Given the description of an element on the screen output the (x, y) to click on. 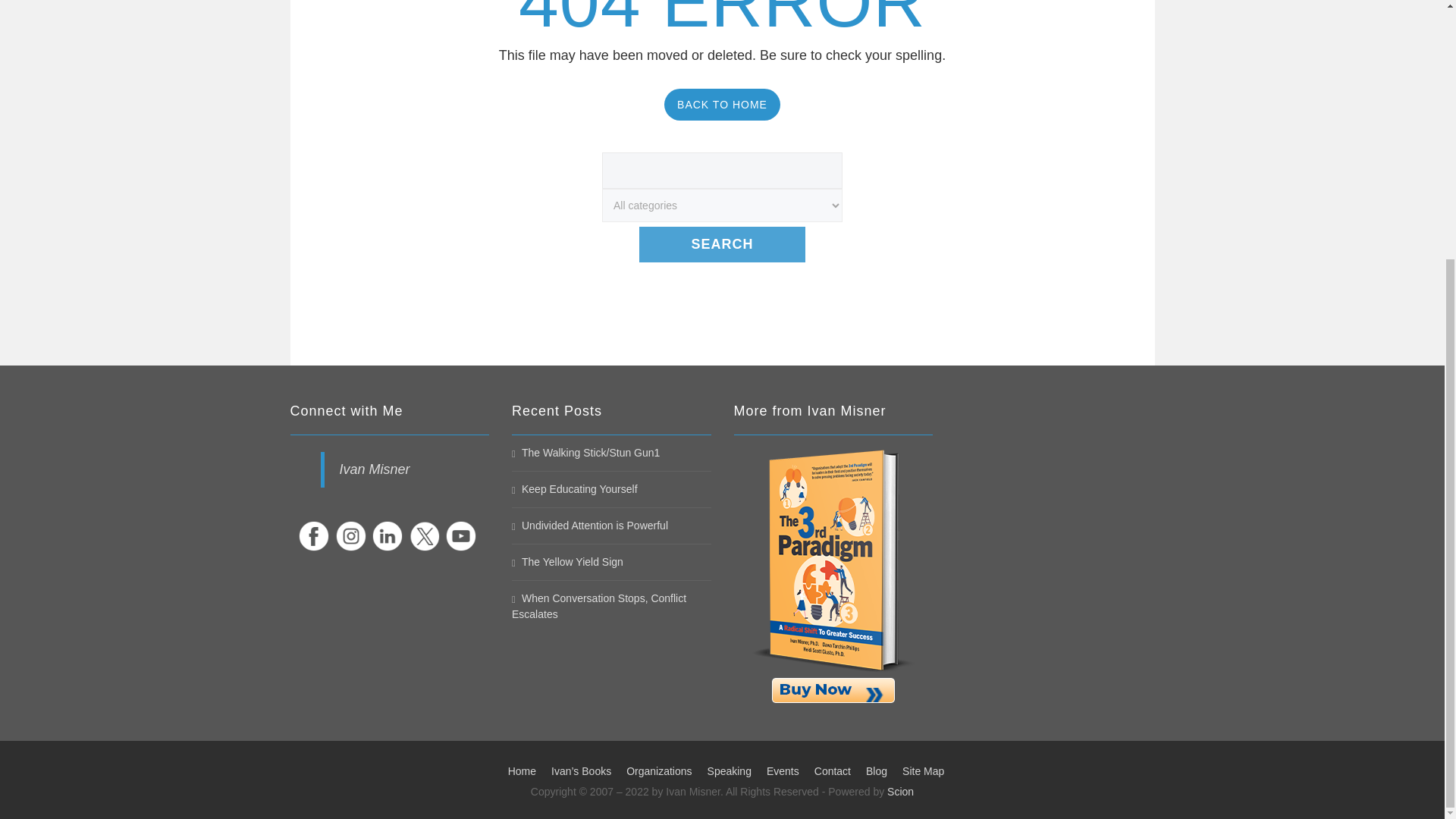
When Conversation Stops, Conflict Escalates (598, 605)
Events (783, 770)
Search (722, 244)
BACK TO HOME (721, 104)
Ivan Misner (374, 468)
Contact (831, 770)
Home (521, 770)
Site Map (922, 770)
Organizations (658, 770)
Keep Educating Yourself (574, 489)
